Given the description of an element on the screen output the (x, y) to click on. 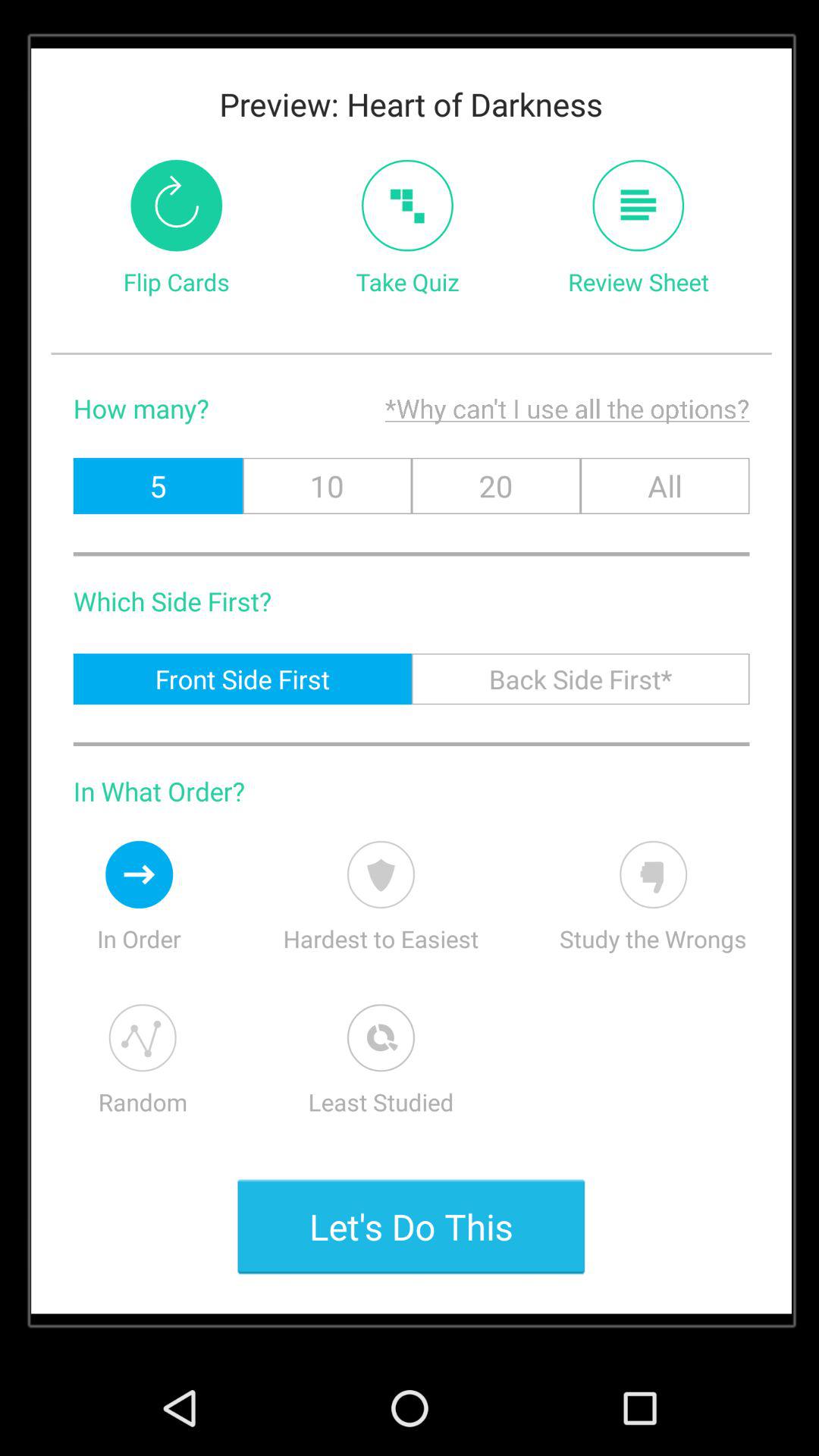
select least studied (380, 1037)
